Given the description of an element on the screen output the (x, y) to click on. 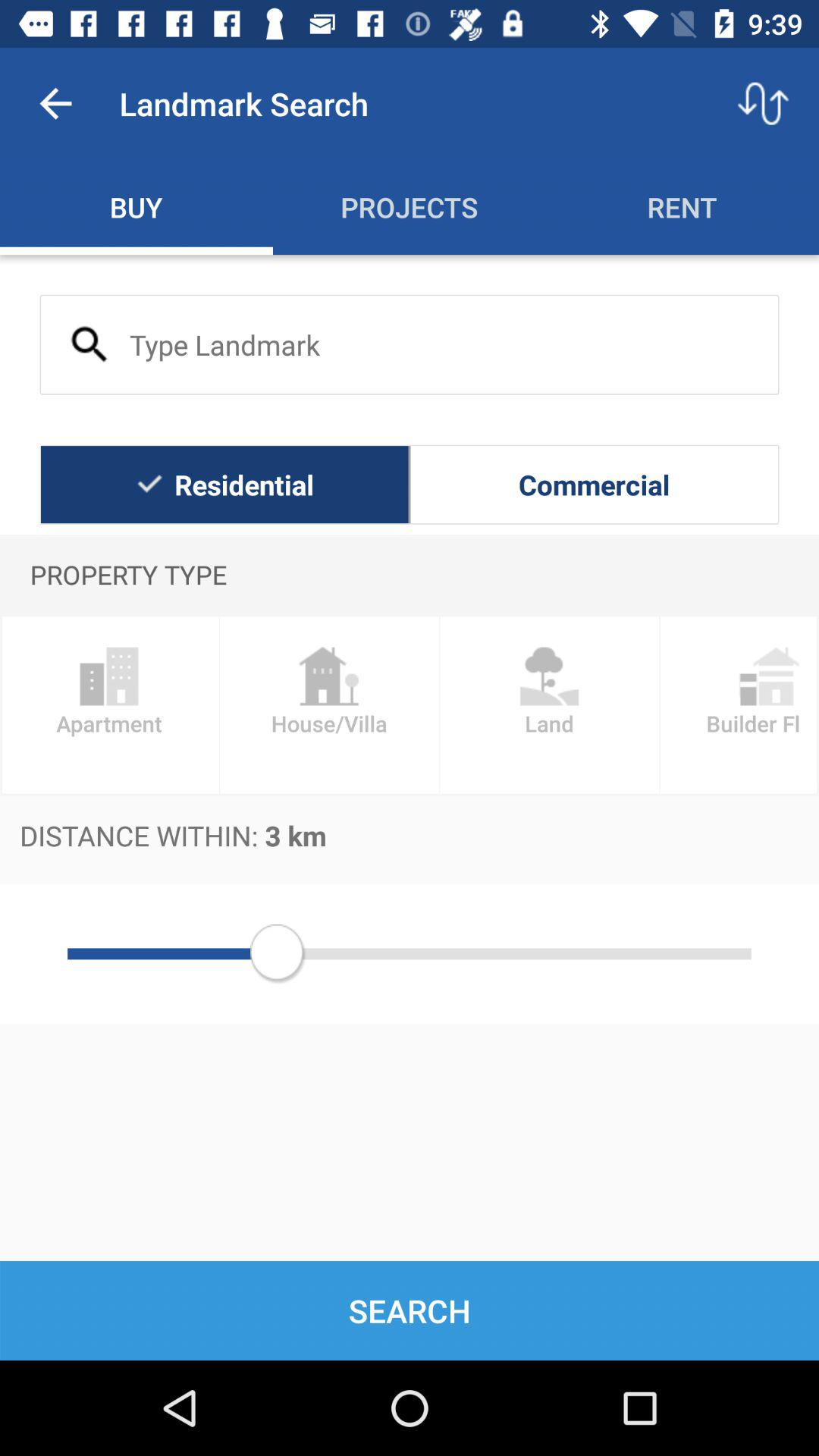
enter landmark (409, 344)
